Given the description of an element on the screen output the (x, y) to click on. 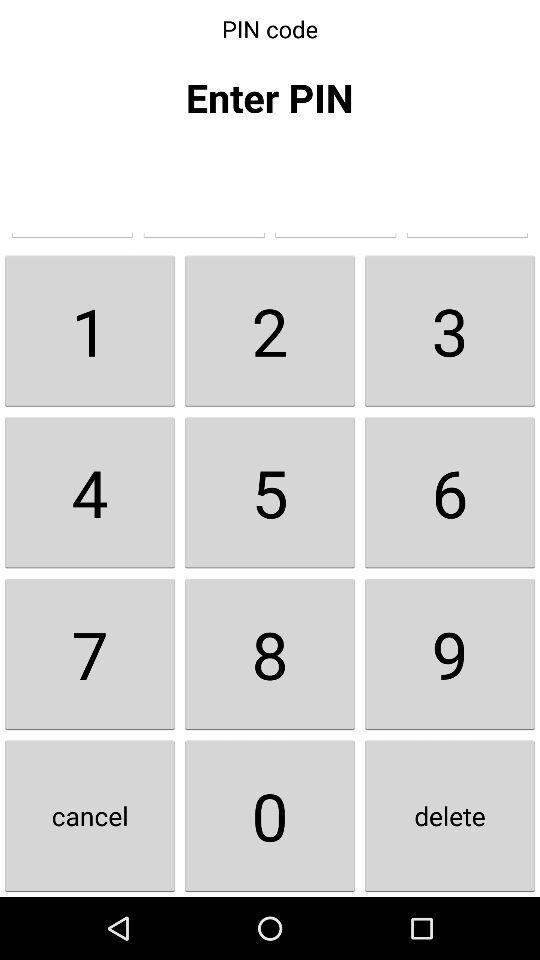
select the 0 button (270, 815)
